Given the description of an element on the screen output the (x, y) to click on. 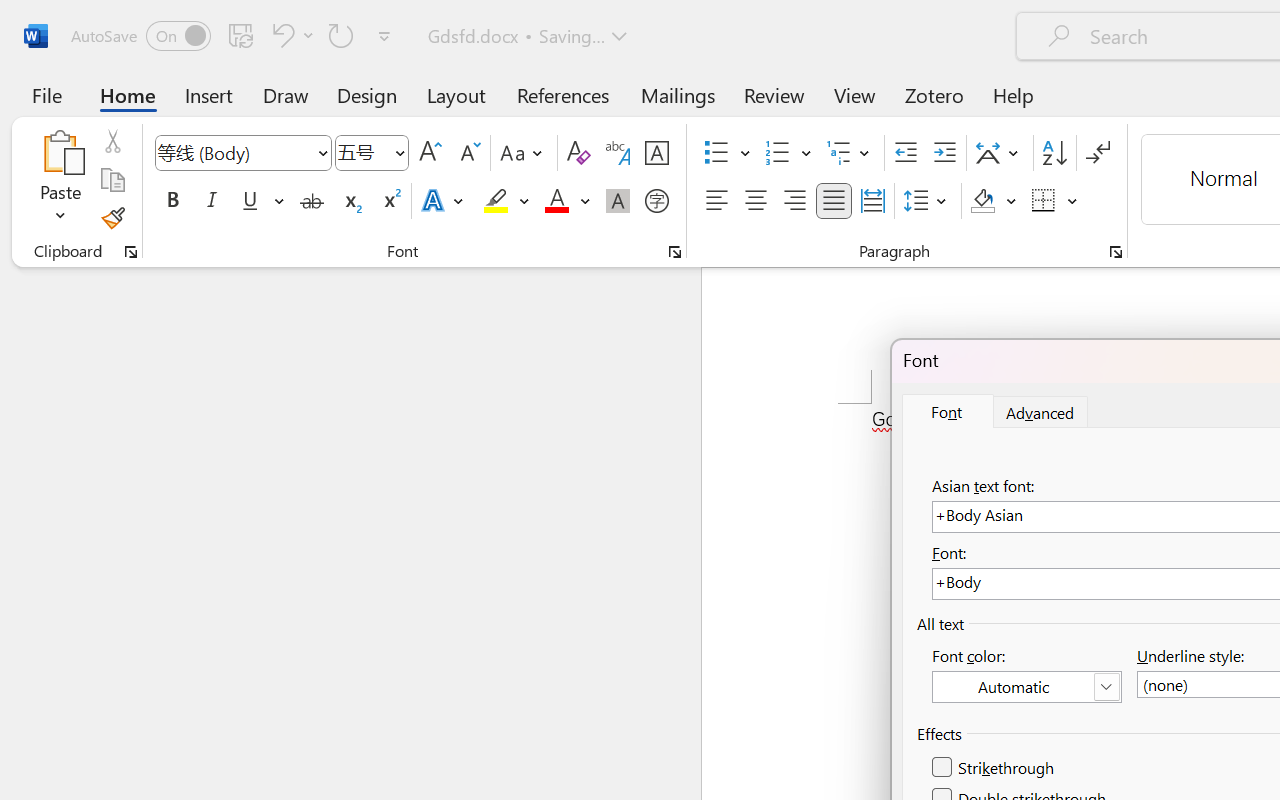
Repeat Style (341, 35)
Subscript (350, 201)
Copy (112, 179)
Show/Hide Editing Marks (1098, 153)
Justify (834, 201)
Advanced (1041, 411)
Strikethrough (312, 201)
Phonetic Guide... (618, 153)
Sort... (1054, 153)
